Given the description of an element on the screen output the (x, y) to click on. 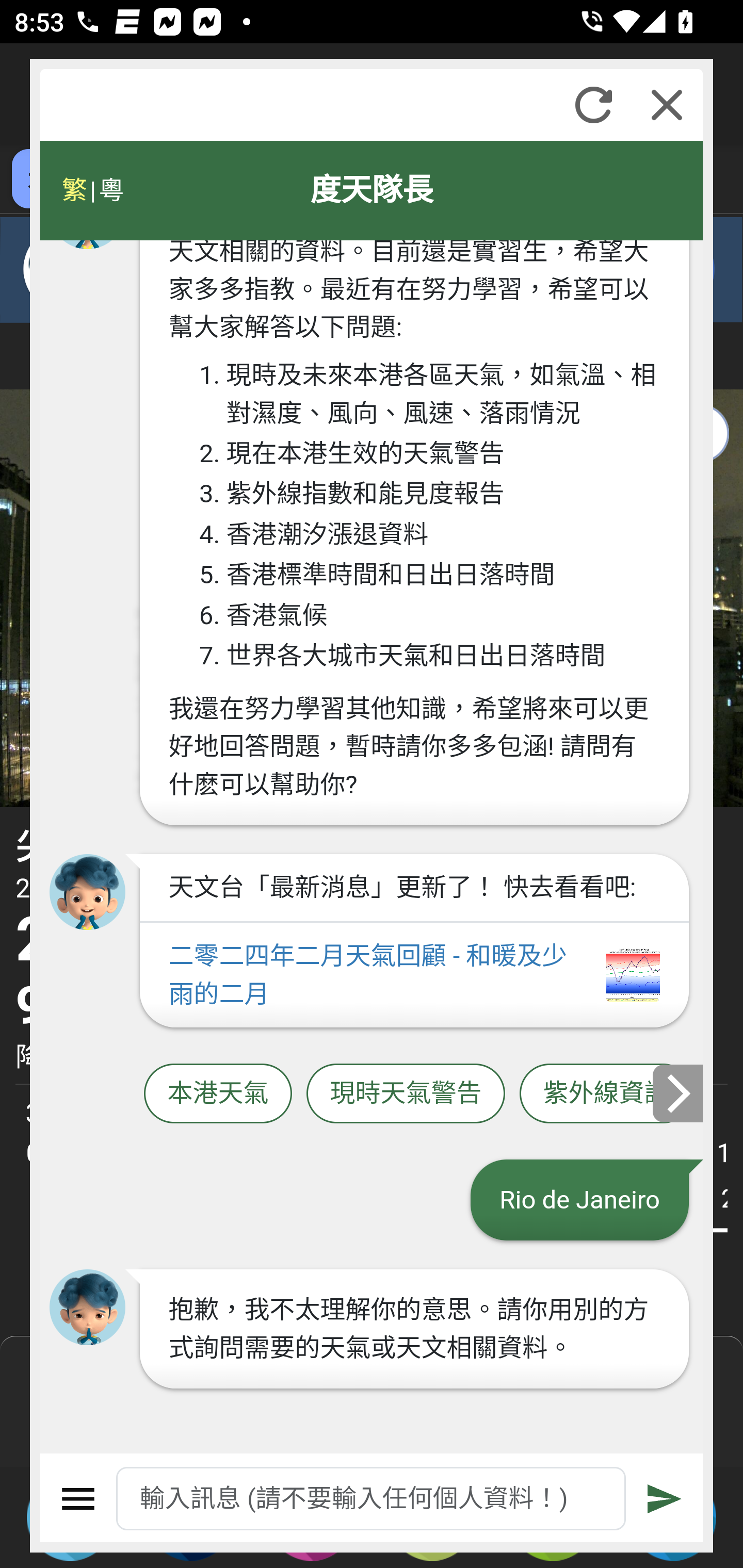
重新整理 (593, 104)
關閉 (666, 104)
繁 (73, 190)
粵 (110, 190)
二零二四年二月天氣回顧 - 和暖及少雨的二月 (413, 974)
本港天氣 (217, 1093)
現時天氣警告 (405, 1093)
紫外線資訊 (605, 1093)
下一張 (678, 1092)
選單 (78, 1498)
遞交 (665, 1498)
